Given the description of an element on the screen output the (x, y) to click on. 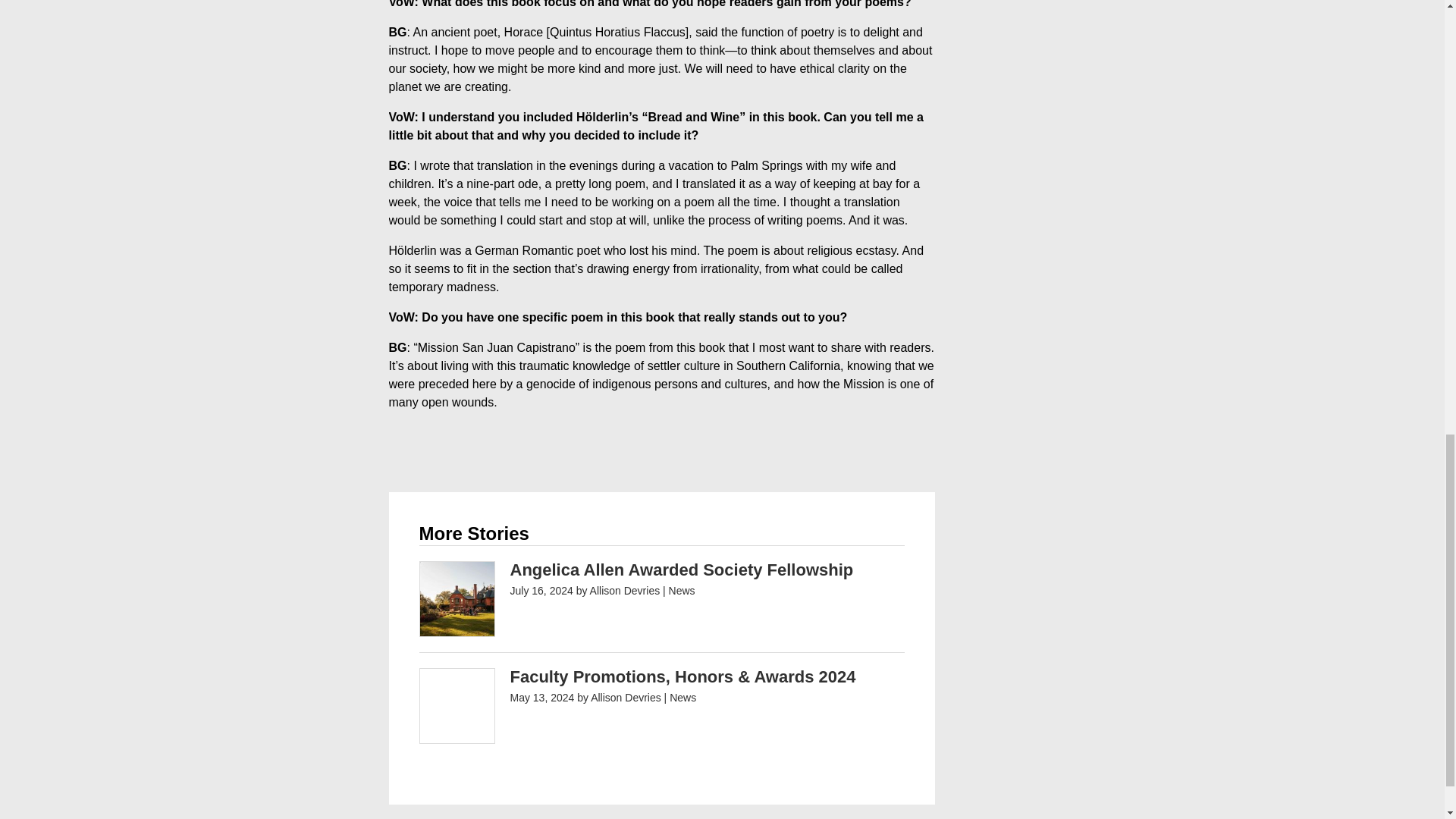
Posts by Allison Devries (625, 590)
Posts by Allison Devries (626, 697)
